Given the description of an element on the screen output the (x, y) to click on. 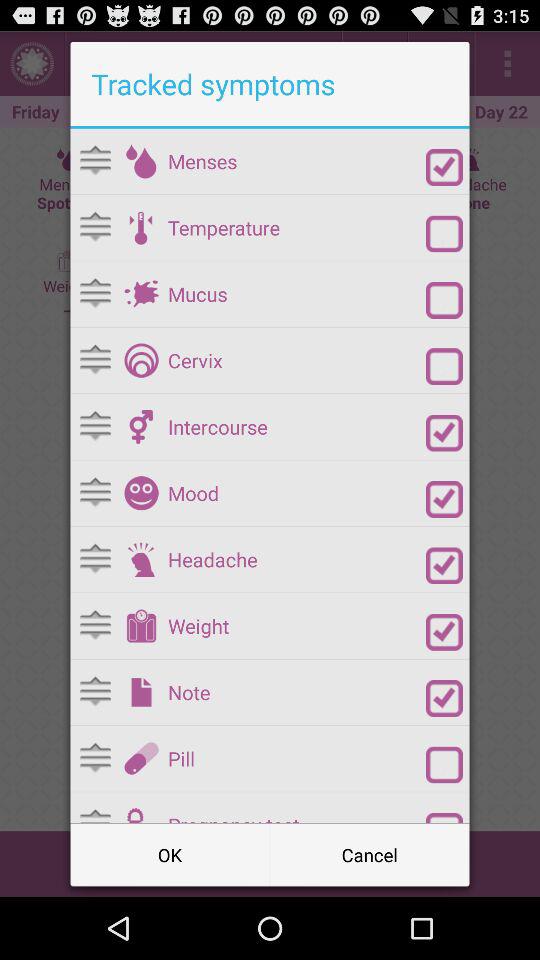
scroll to the pill icon (296, 758)
